Given the description of an element on the screen output the (x, y) to click on. 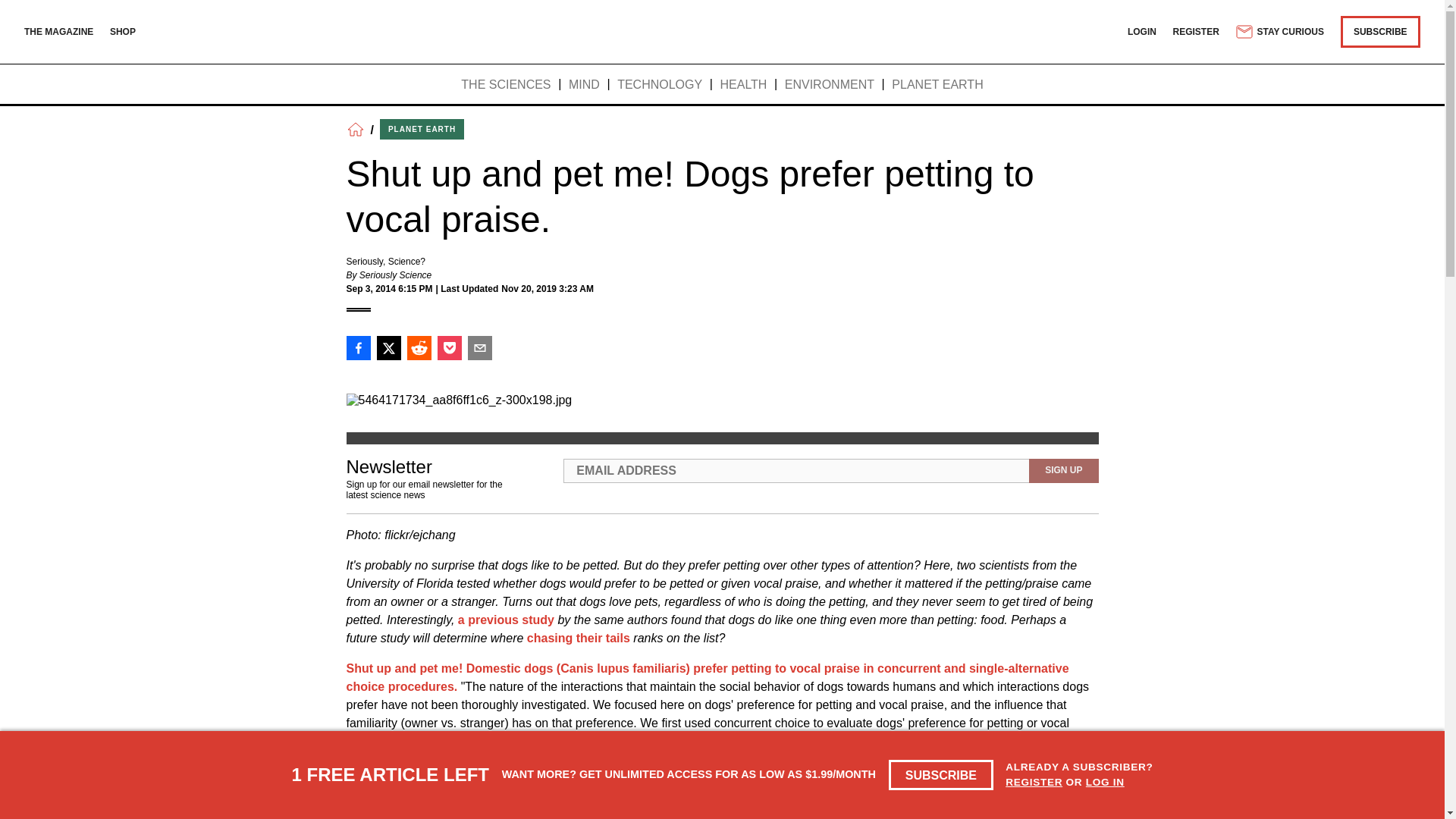
TECHNOLOGY (659, 84)
MIND (584, 84)
LOGIN (1141, 31)
Seriously, Science? (385, 261)
REGISTER (1034, 781)
SIGN UP (1063, 470)
PLANET EARTH (936, 84)
REGISTER (1196, 31)
a previous study (506, 619)
chasing their tails (578, 637)
PLANET EARTH (422, 128)
LOG IN (1105, 781)
SHOP (122, 31)
SUBSCRIBE (1380, 31)
ENVIRONMENT (829, 84)
